Given the description of an element on the screen output the (x, y) to click on. 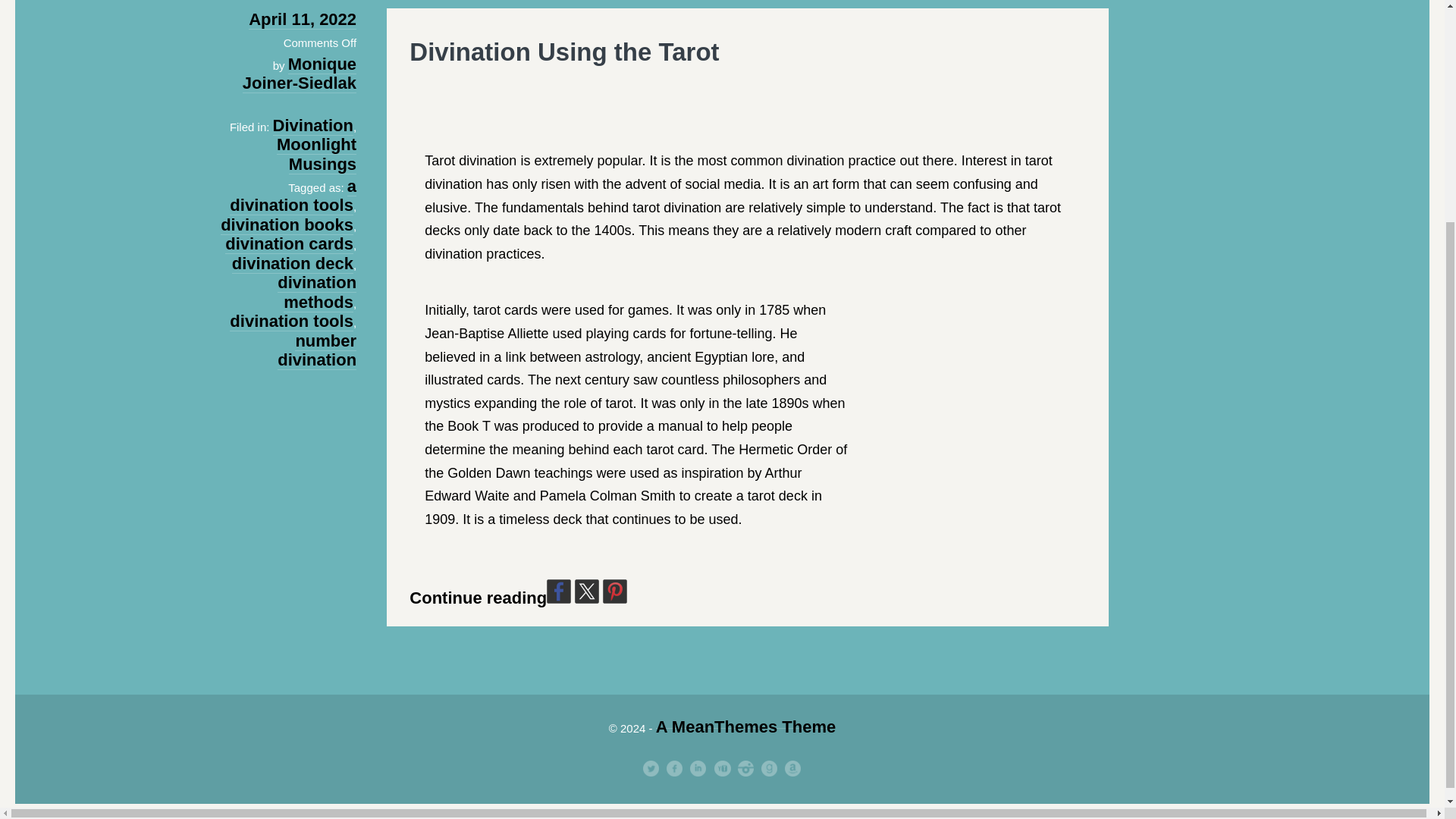
Posts by Monique Joiner-Siedlak (299, 74)
MeanThemes - Another WordPress Theme website (745, 727)
Divination (313, 125)
Twitter (651, 768)
Pin it with Pinterest (614, 591)
Monique Joiner-Siedlak (299, 74)
Share on Facebook (558, 591)
Divination Using the Tarot - Continue reading (564, 51)
Linked In (698, 768)
Share on Twitter (586, 591)
